Given the description of an element on the screen output the (x, y) to click on. 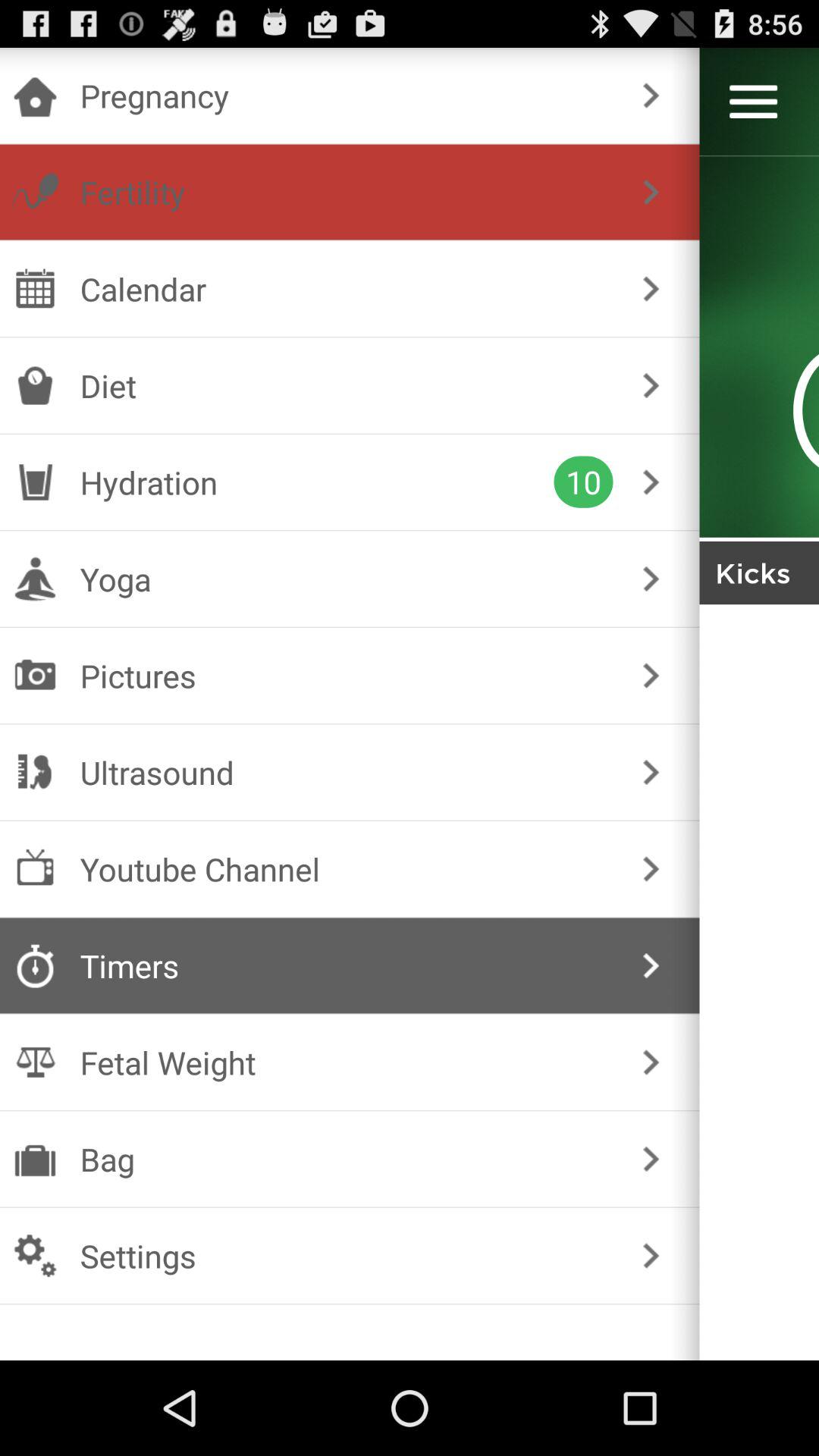
click the app next to 00 (651, 288)
